Given the description of an element on the screen output the (x, y) to click on. 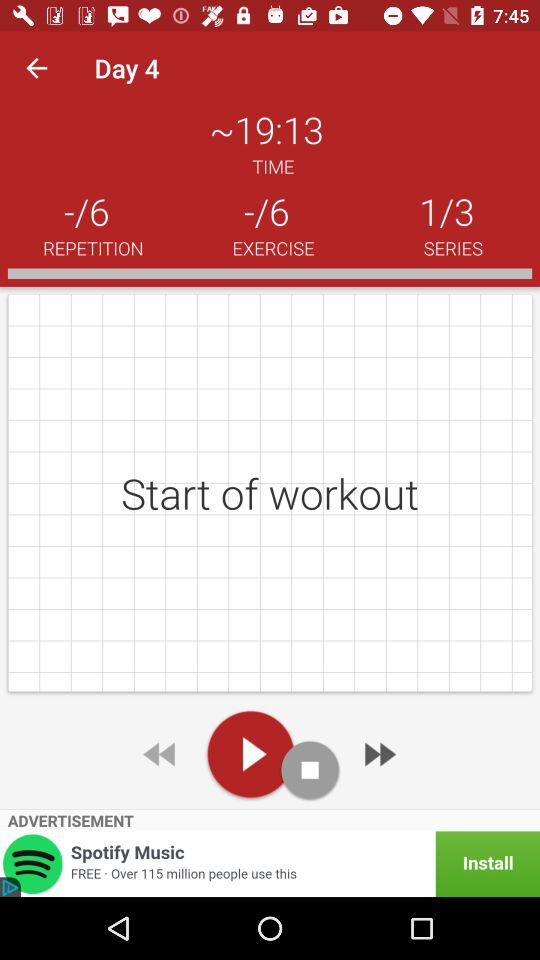
play (250, 754)
